Given the description of an element on the screen output the (x, y) to click on. 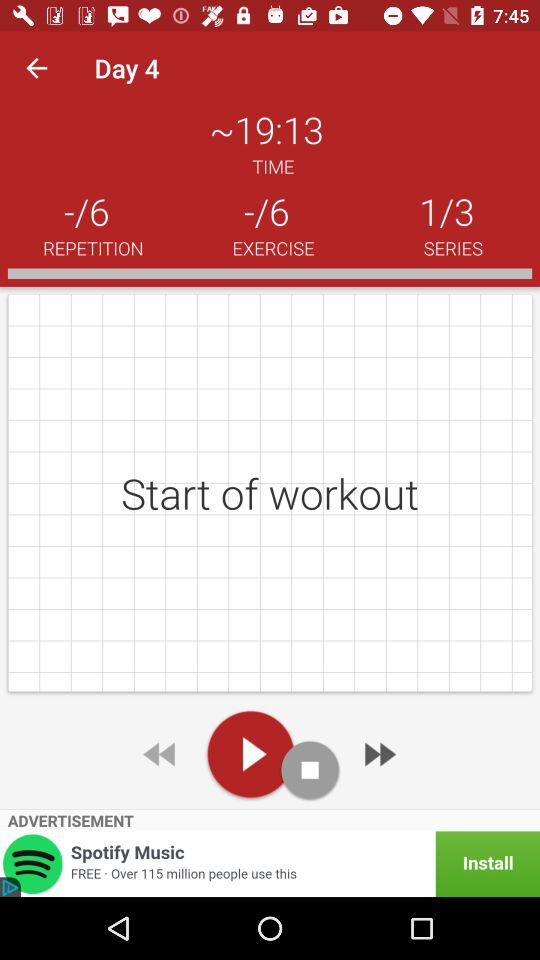
play (250, 754)
